Given the description of an element on the screen output the (x, y) to click on. 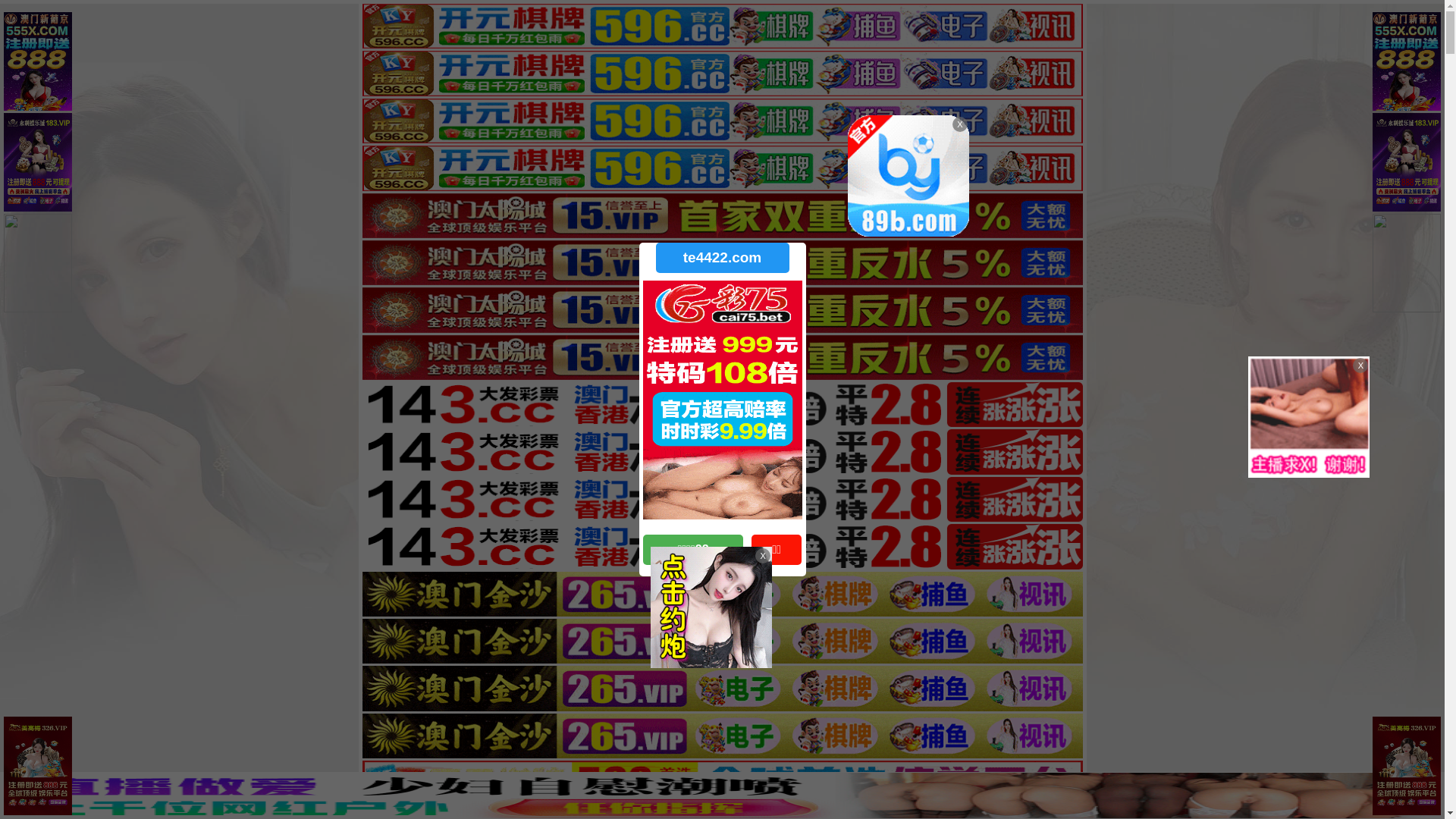
te4422.com Element type: text (721, 257)
X Element type: text (1430, 789)
